Given the description of an element on the screen output the (x, y) to click on. 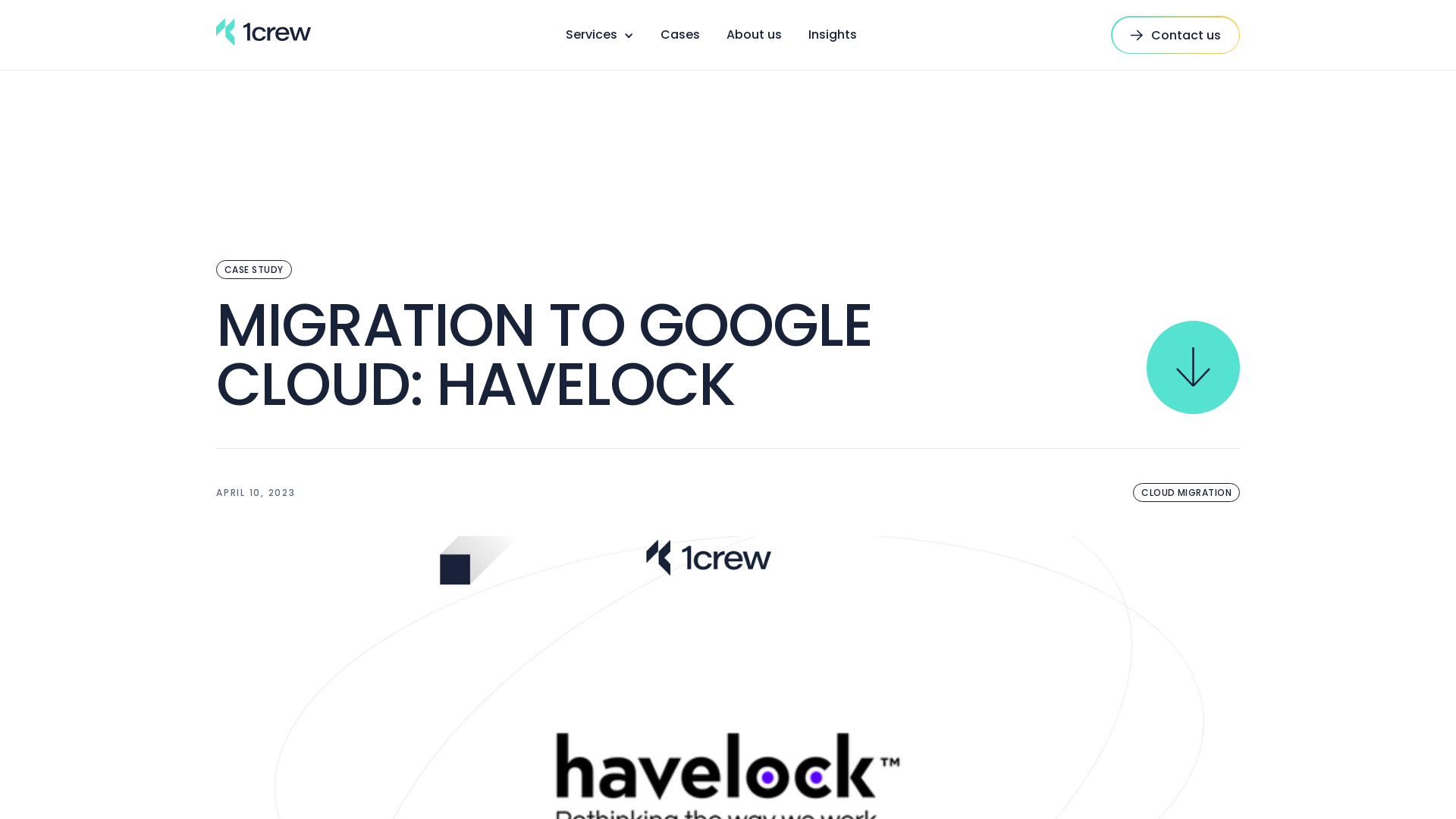
About us Element type: text (753, 34)
Contact us Element type: text (1174, 34)
Insights Element type: text (832, 34)
Cases Element type: text (679, 34)
